Given the description of an element on the screen output the (x, y) to click on. 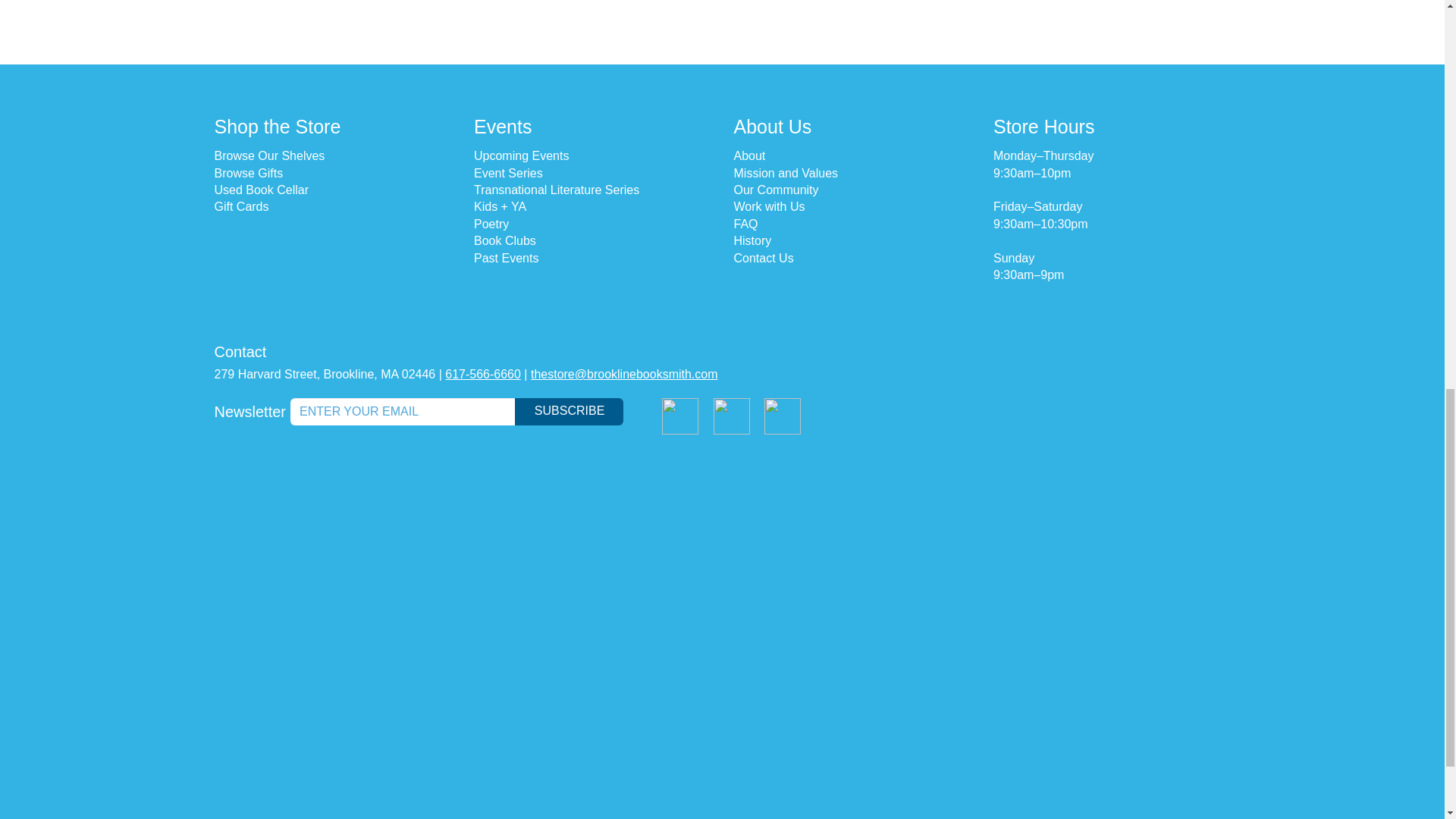
Subscribe (569, 411)
